Given the description of an element on the screen output the (x, y) to click on. 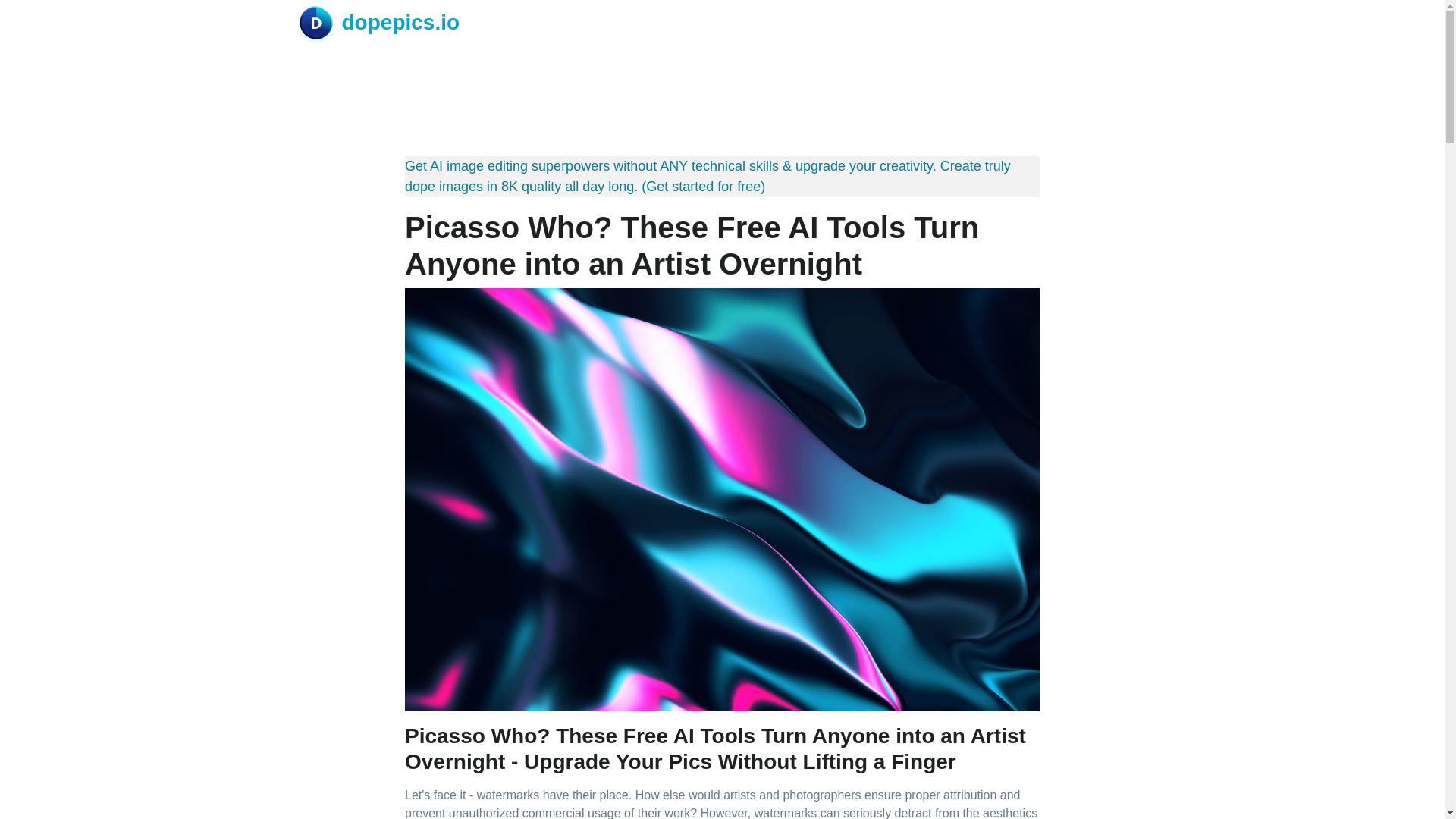
dopepics.io (379, 22)
